Given the description of an element on the screen output the (x, y) to click on. 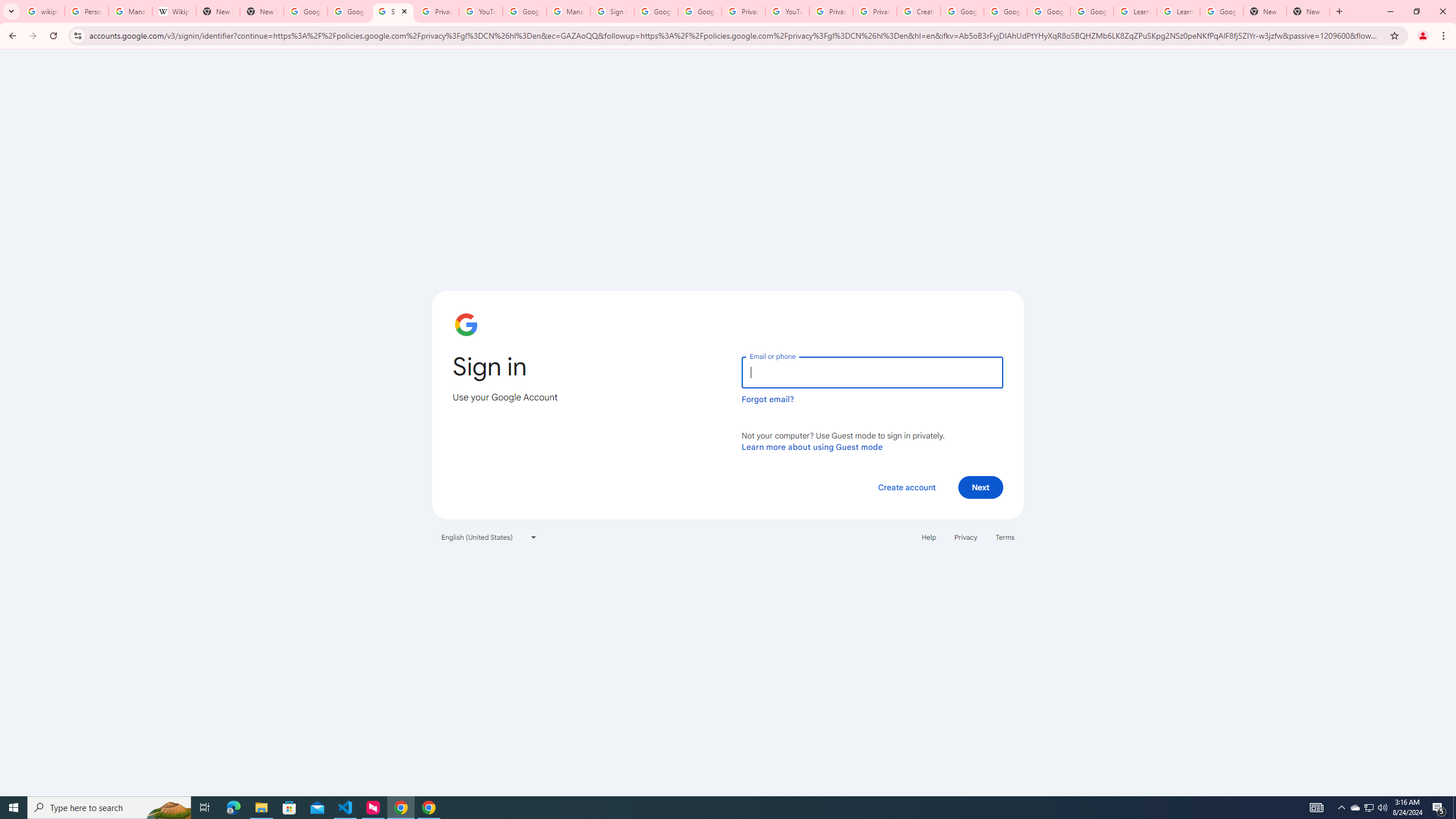
Learn more about using Guest mode (812, 446)
Google Account Help (1091, 11)
Google Account Help (1048, 11)
New Tab (1264, 11)
Sign in - Google Accounts (393, 11)
Forgot email? (767, 398)
Wikipedia:Edit requests - Wikipedia (173, 11)
